Given the description of an element on the screen output the (x, y) to click on. 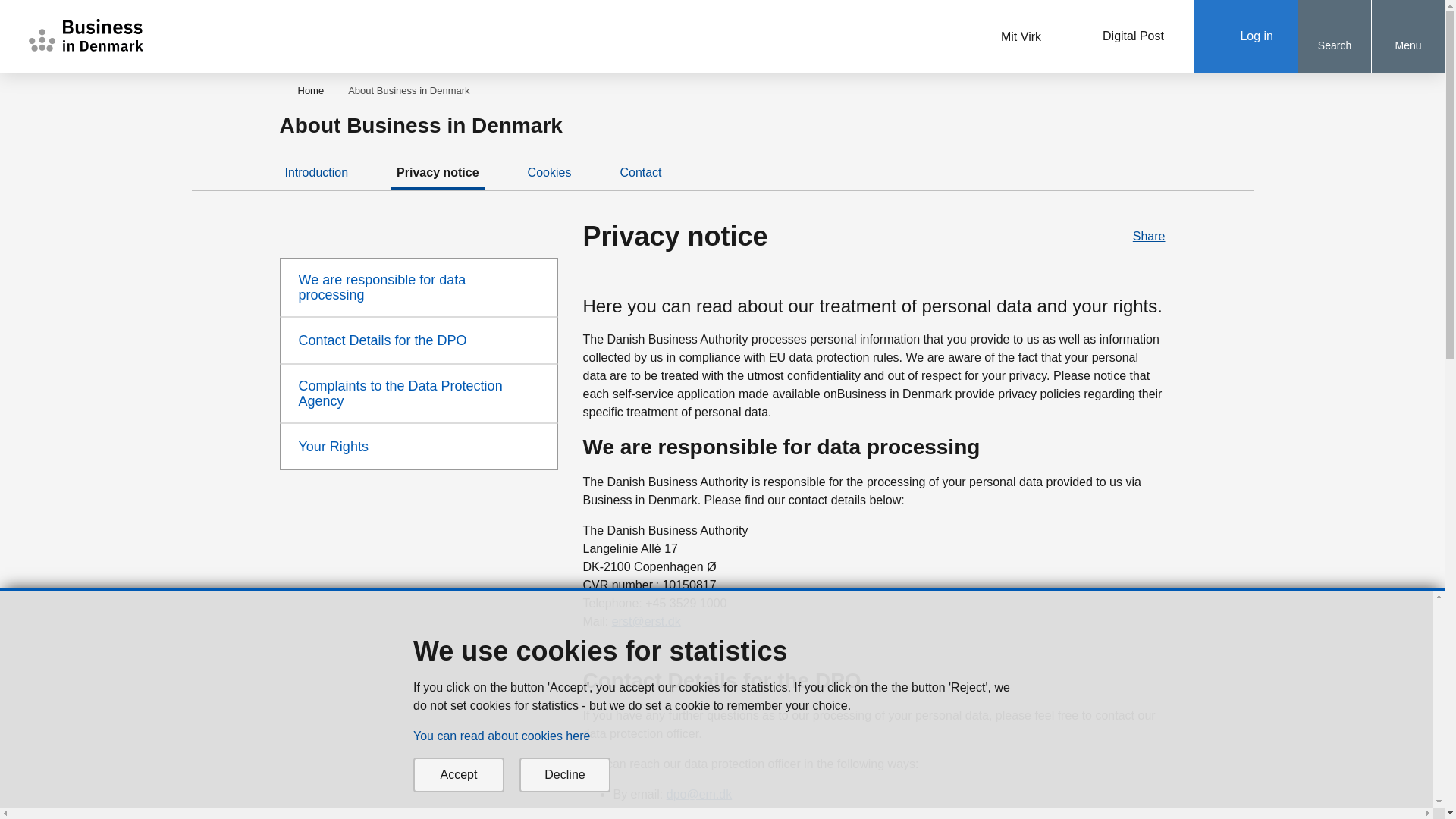
Privacy notice (437, 172)
Contact Details for the DPO (418, 339)
Introduction (317, 172)
Digital Post (1132, 36)
We are responsible for data processing (418, 286)
Your Rights (418, 446)
Log in (1245, 36)
Introduction Privacy notice Cookies Contact (716, 176)
Share (1140, 236)
Complaints to the Data Protection Agency (418, 393)
